Given the description of an element on the screen output the (x, y) to click on. 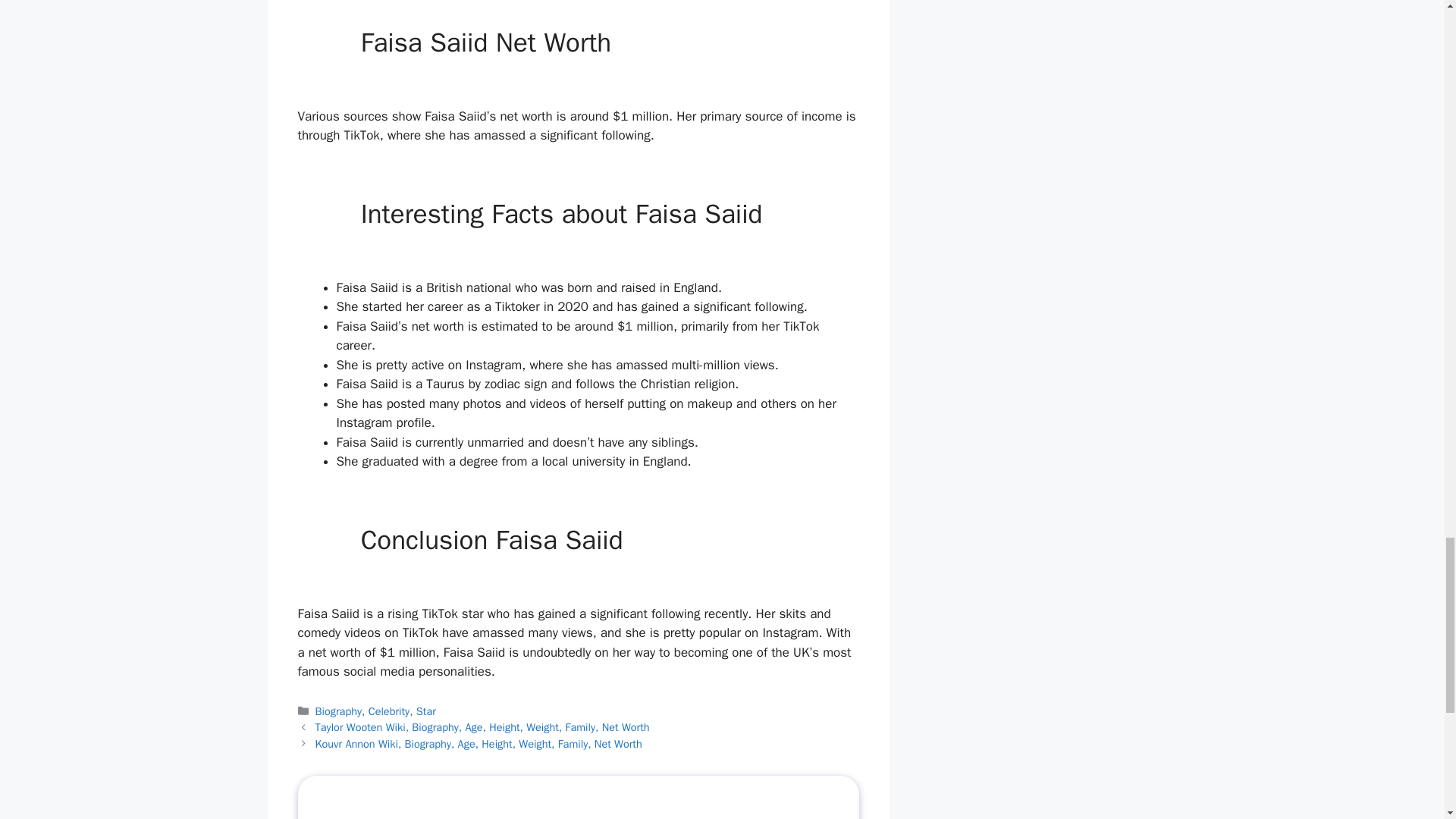
Biography (338, 711)
Celebrity (388, 711)
Star (425, 711)
